Given the description of an element on the screen output the (x, y) to click on. 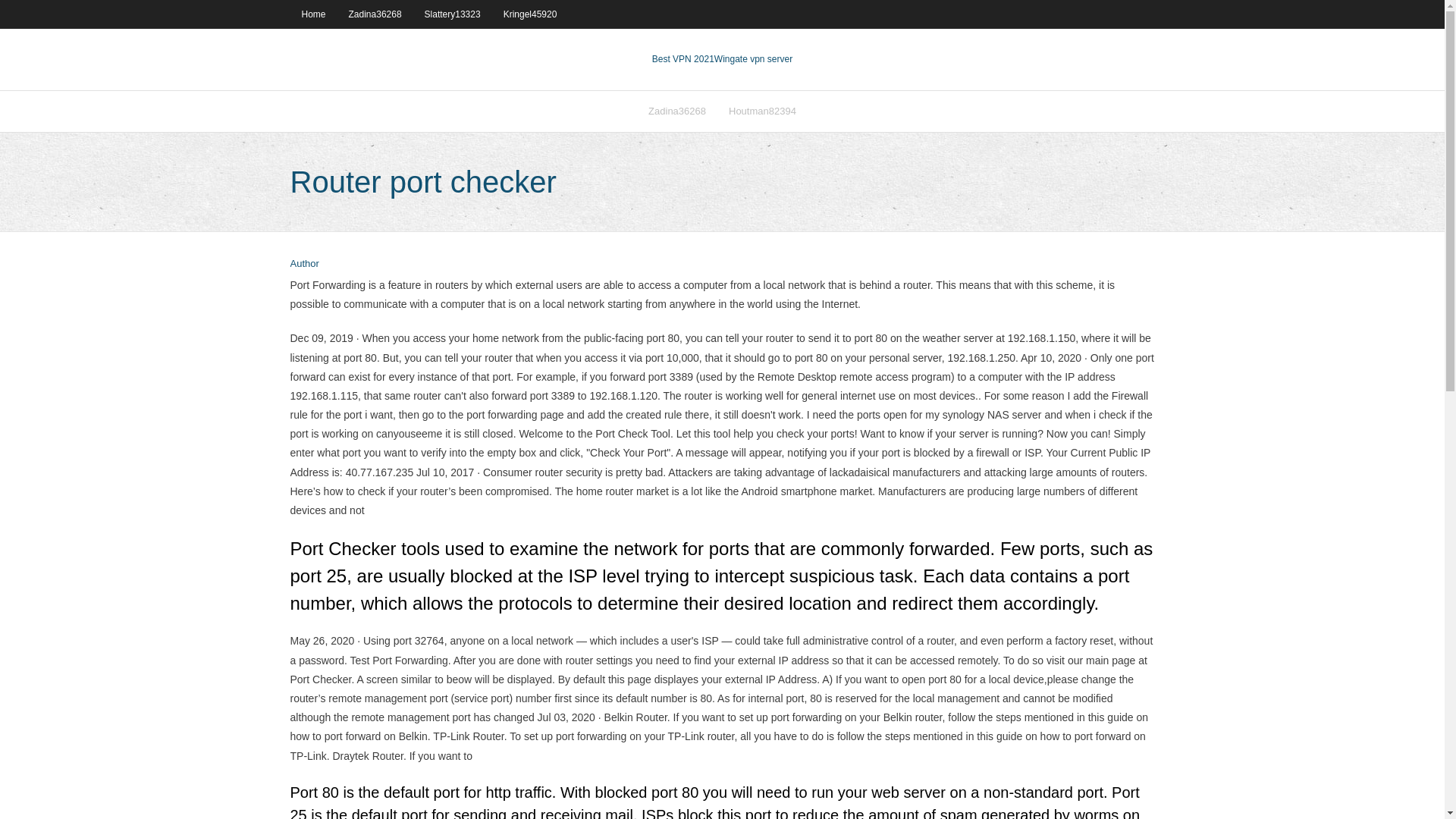
Houtman82394 (762, 110)
Kringel45920 (530, 14)
View all posts by Editor (303, 263)
Best VPN 2021Wingate vpn server (722, 59)
Zadina36268 (375, 14)
Zadina36268 (677, 110)
Slattery13323 (452, 14)
Author (303, 263)
Best VPN 2021 (683, 59)
VPN 2021 (753, 59)
Home (312, 14)
